Given the description of an element on the screen output the (x, y) to click on. 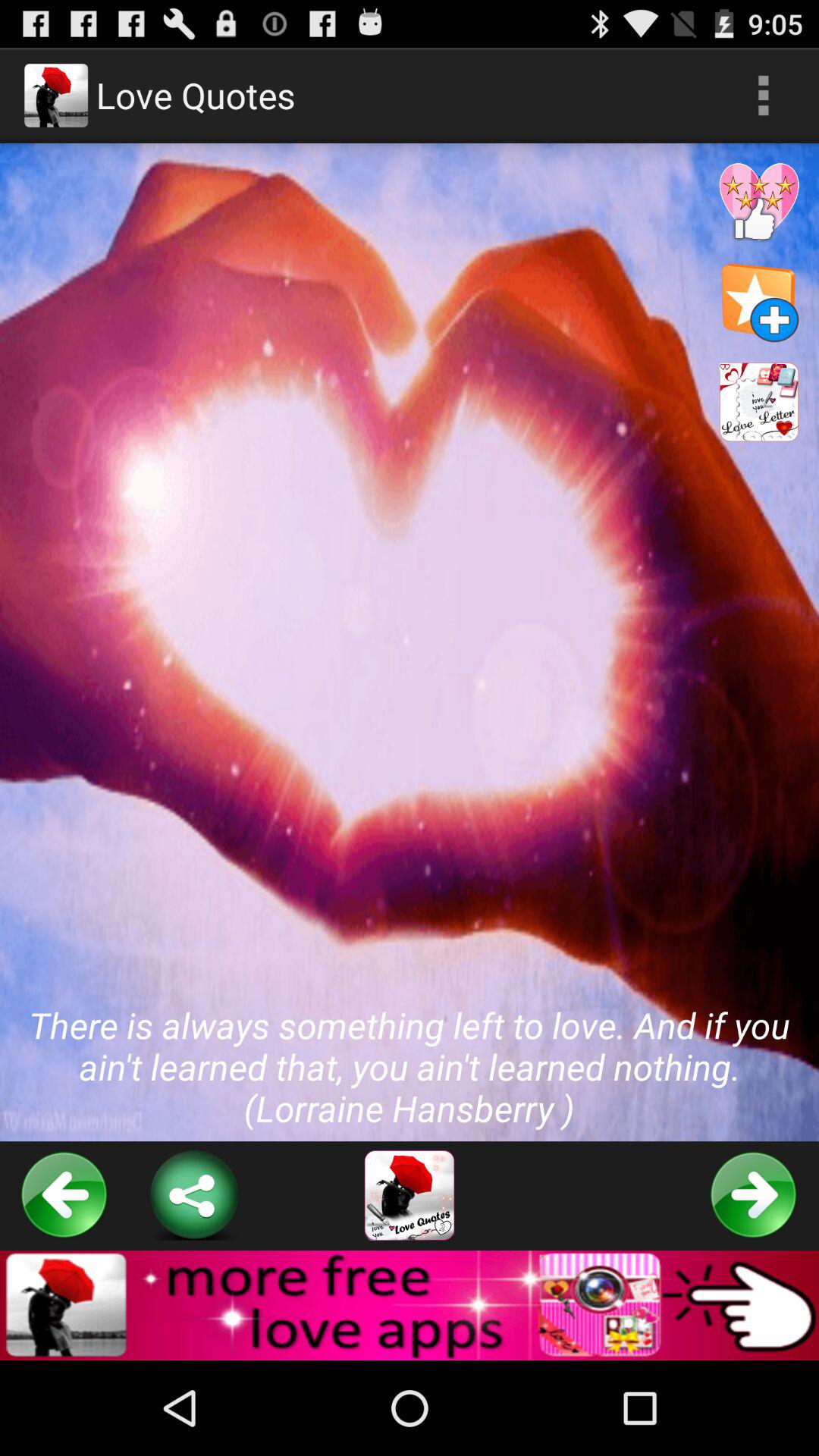
click there is always (409, 642)
